Given the description of an element on the screen output the (x, y) to click on. 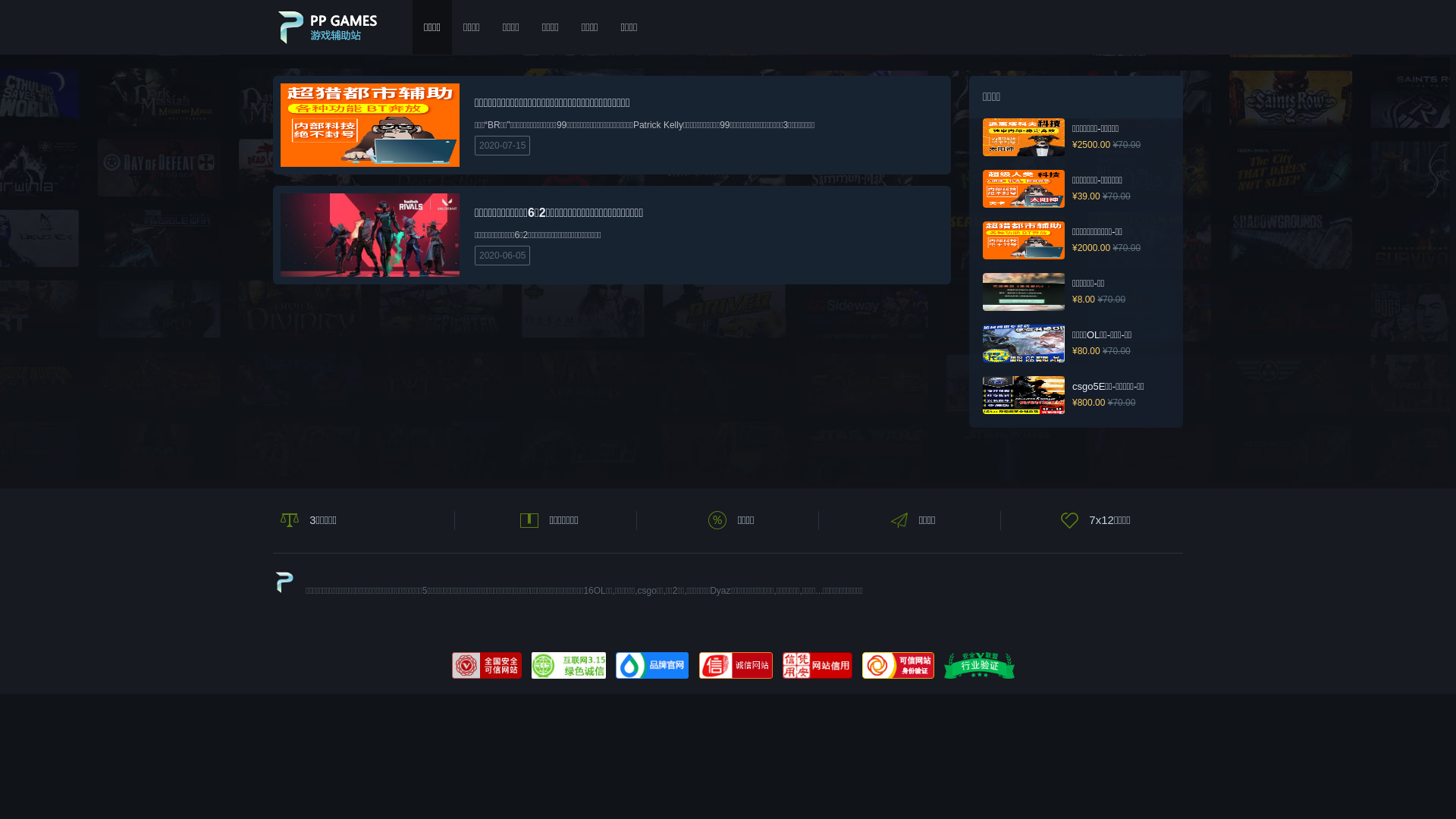
2020-06-05 Element type: text (502, 255)
2020-07-15 Element type: text (502, 145)
